Given the description of an element on the screen output the (x, y) to click on. 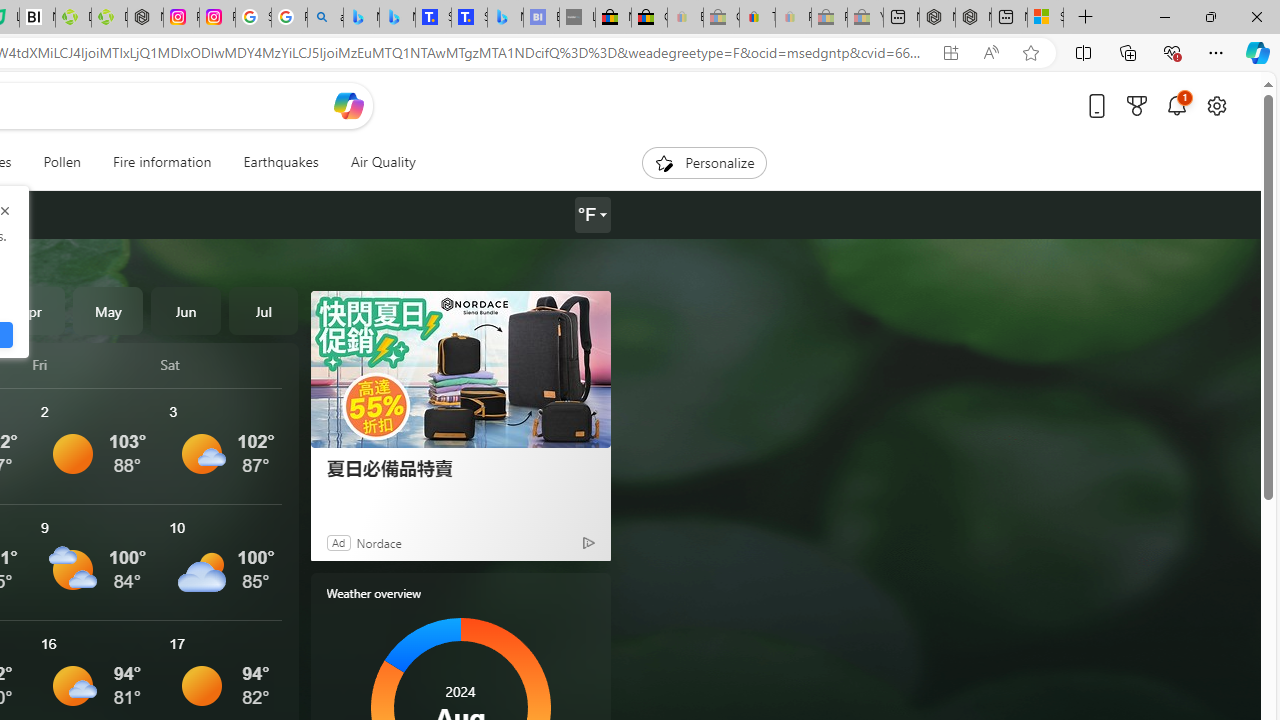
Pollen (61, 162)
Microsoft Bing Travel - Flights from Hong Kong to Bangkok (361, 17)
Jul (263, 310)
Nordace - Nordace Edin Collection (145, 17)
alabama high school quarterback dies - Search (325, 17)
Air Quality (382, 162)
App available. Install Microsoft Start Weather (950, 53)
Earthquakes (280, 162)
